Given the description of an element on the screen output the (x, y) to click on. 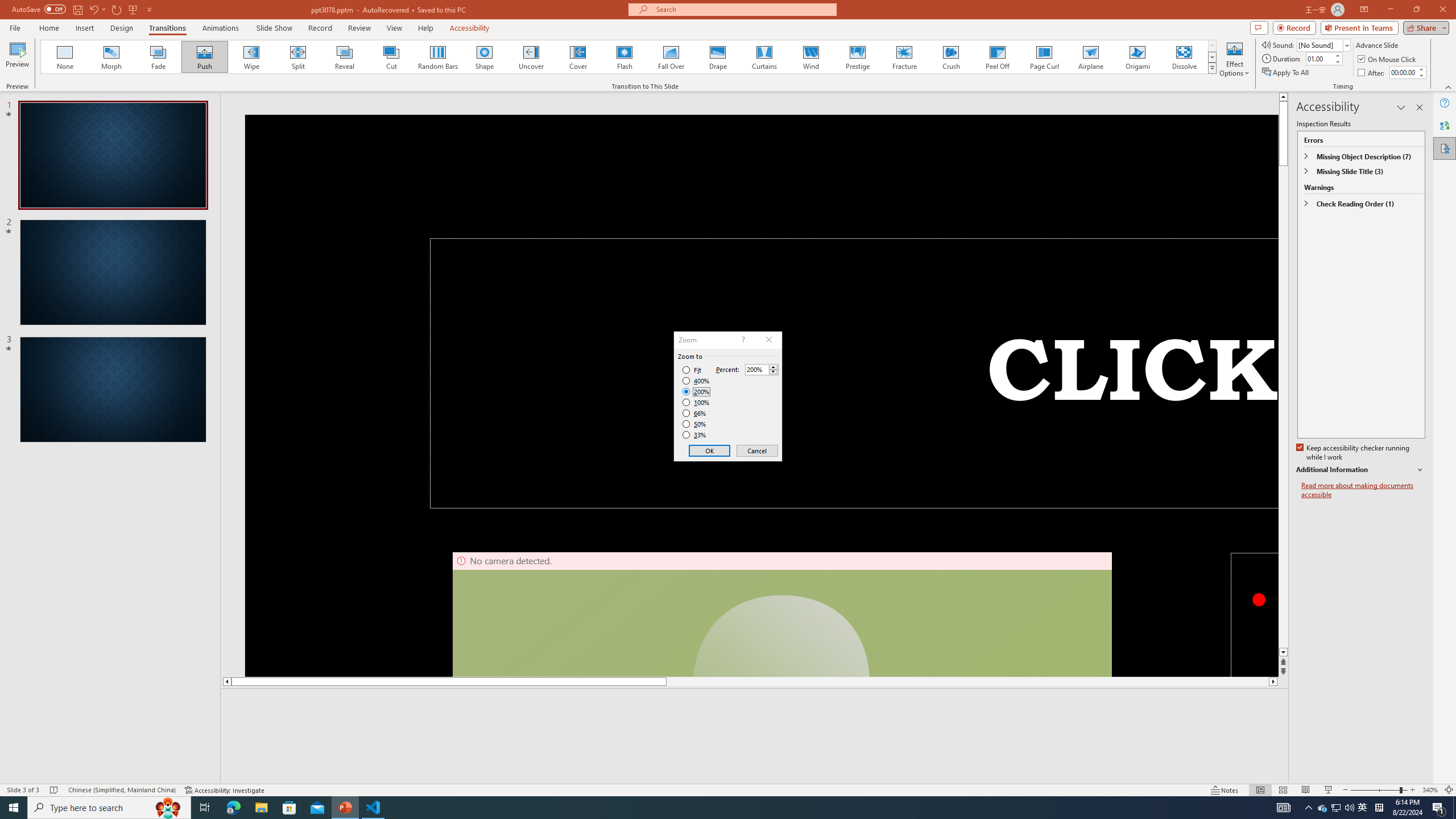
On Mouse Click (1387, 58)
Zoom 340% (1430, 790)
Fade (158, 56)
Morph (111, 56)
Apply To All (1286, 72)
Effect Options (1234, 58)
Random Bars (437, 56)
